Given the description of an element on the screen output the (x, y) to click on. 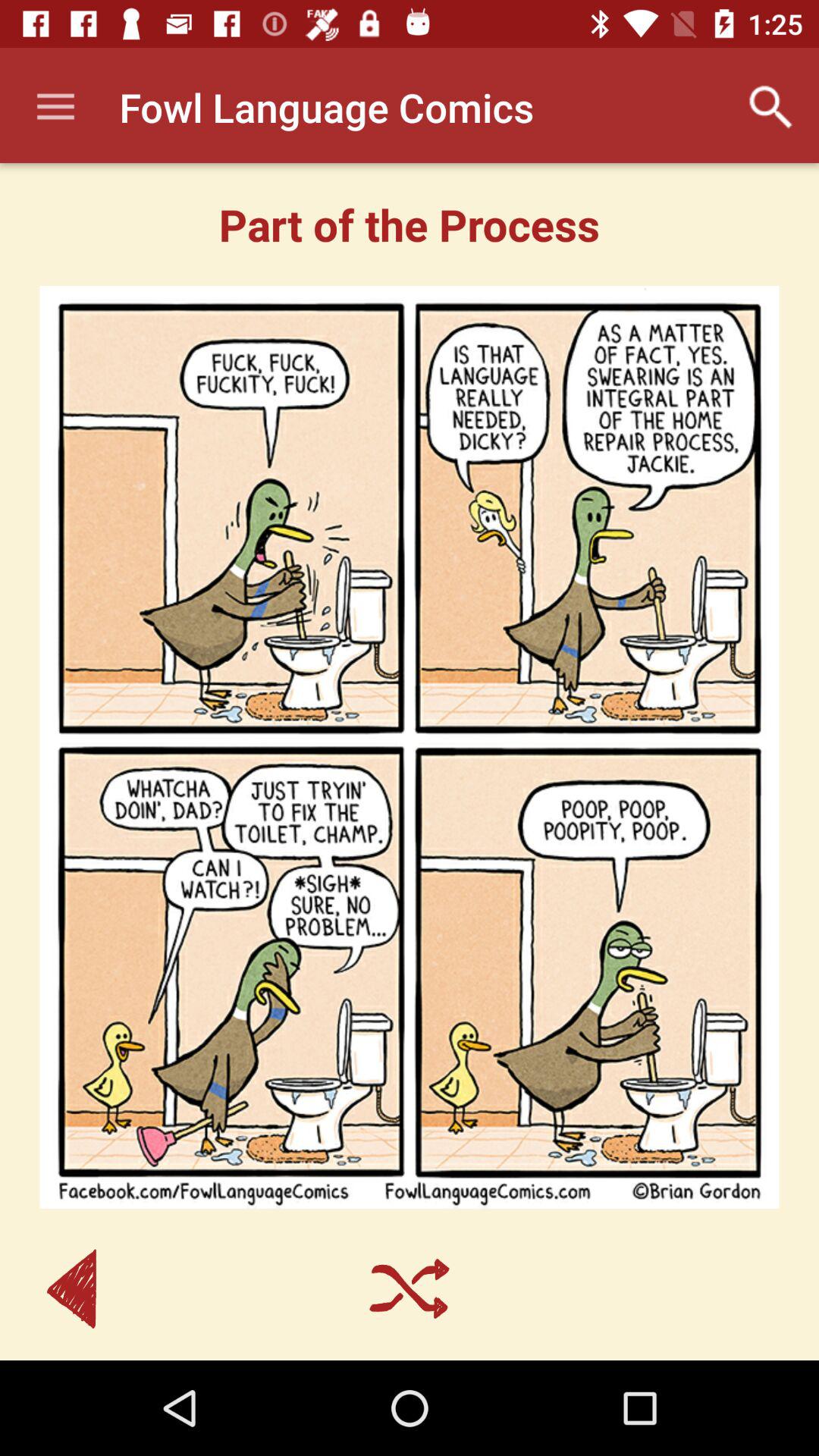
click the item below part of the (409, 747)
